Given the description of an element on the screen output the (x, y) to click on. 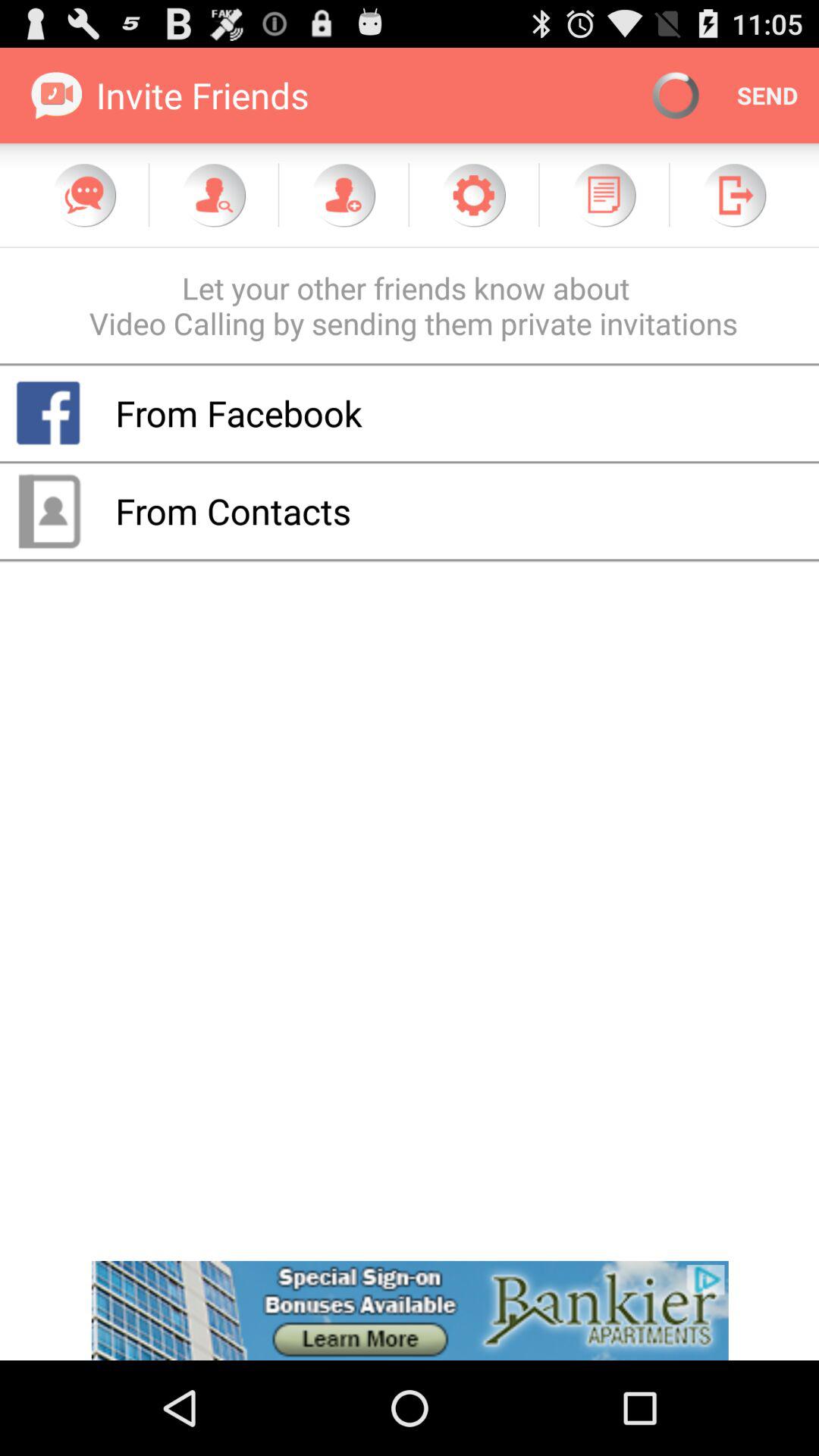
open settings (473, 194)
